Given the description of an element on the screen output the (x, y) to click on. 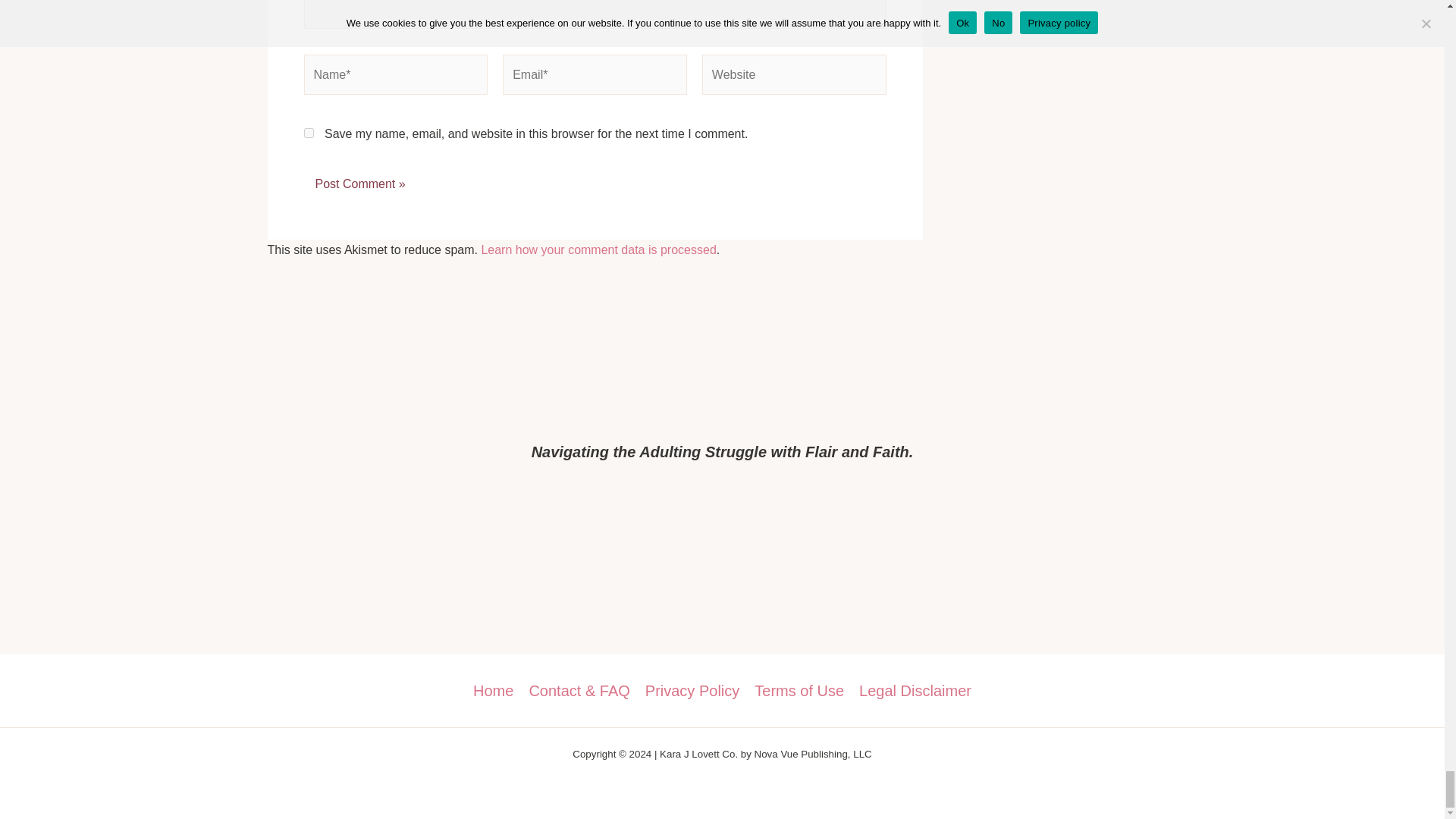
yes (307, 132)
